Given the description of an element on the screen output the (x, y) to click on. 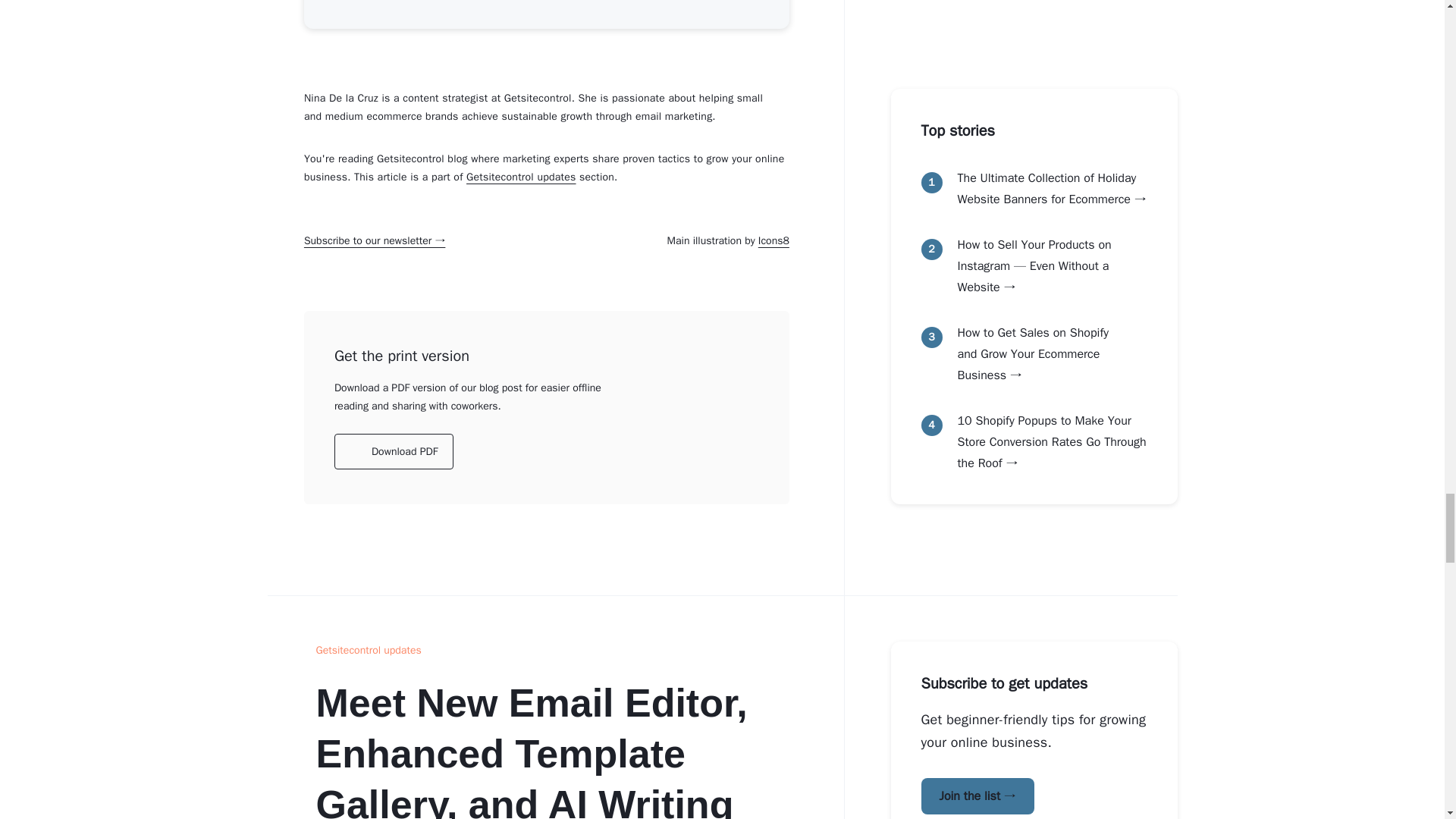
Getsitecontrol updates (520, 176)
Download PDF (394, 451)
download printable version (394, 451)
Icons8 (773, 240)
